Given the description of an element on the screen output the (x, y) to click on. 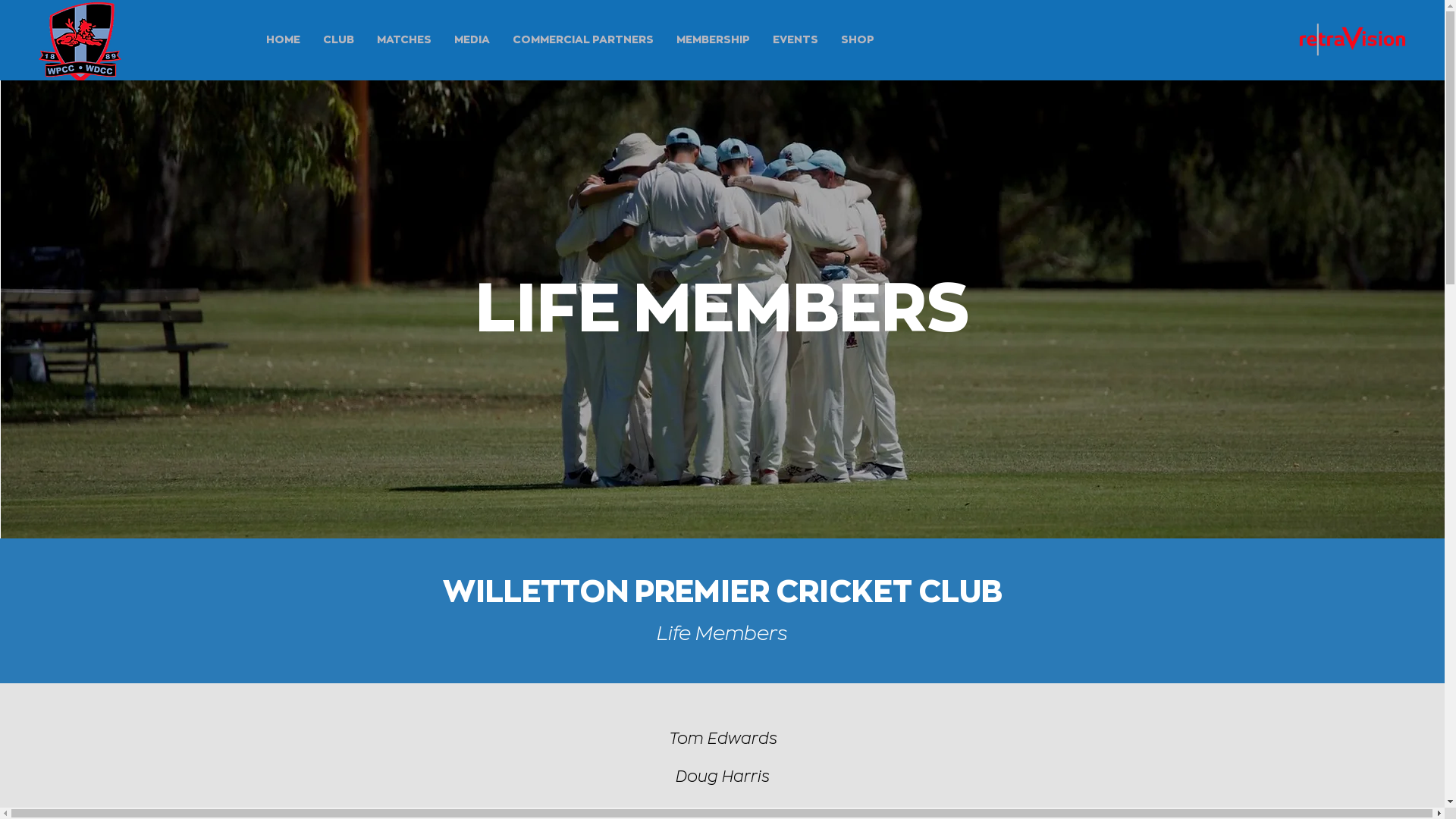
EVENTS Element type: text (795, 39)
MEMBERSHIP Element type: text (713, 39)
SHOP Element type: text (857, 39)
HOME Element type: text (282, 39)
